Given the description of an element on the screen output the (x, y) to click on. 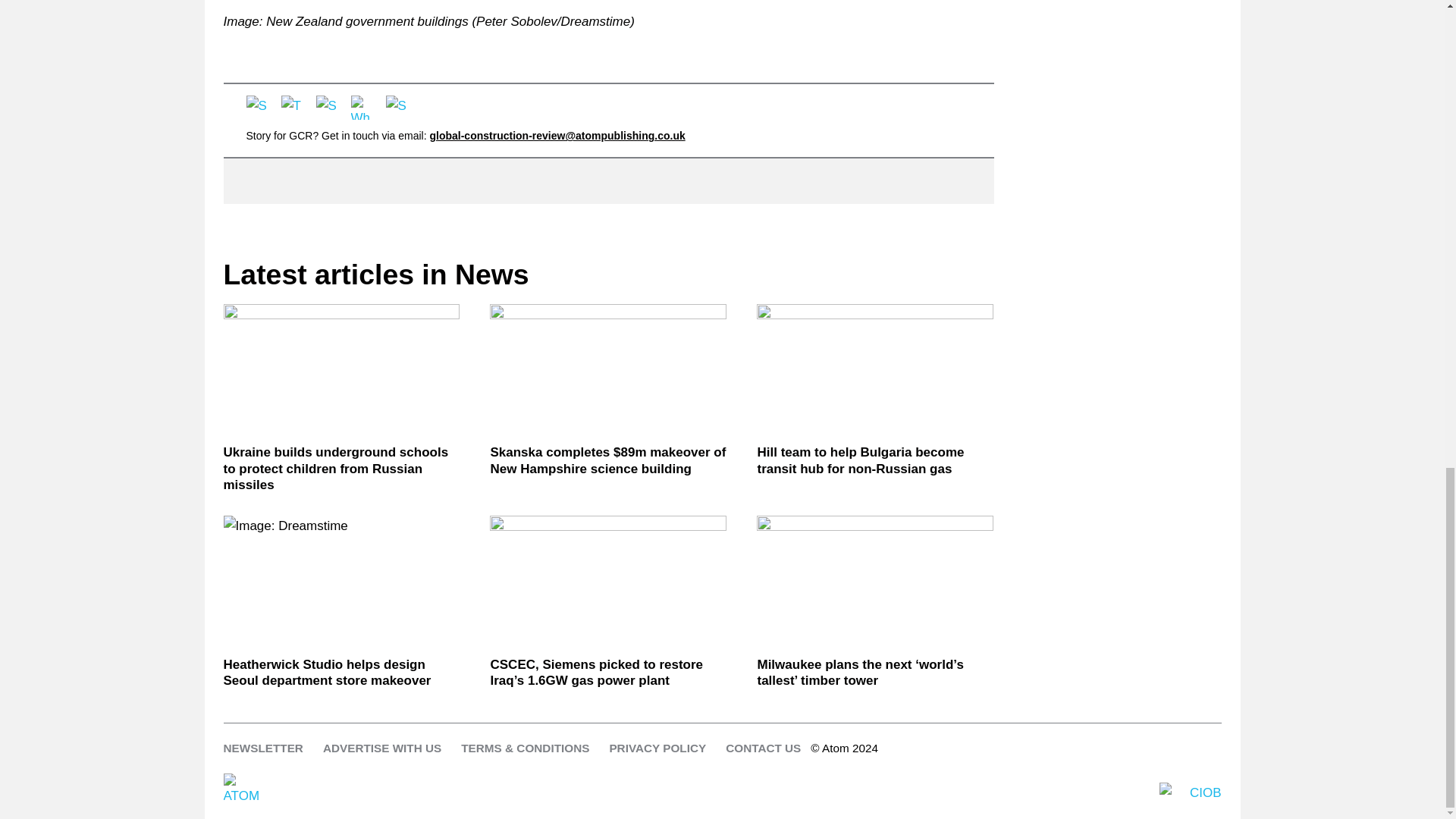
Send email (397, 107)
Share on LinkedIn (327, 107)
Tweet (292, 107)
Share on WhatsApp (362, 107)
Share on Facebook (257, 107)
